Given the description of an element on the screen output the (x, y) to click on. 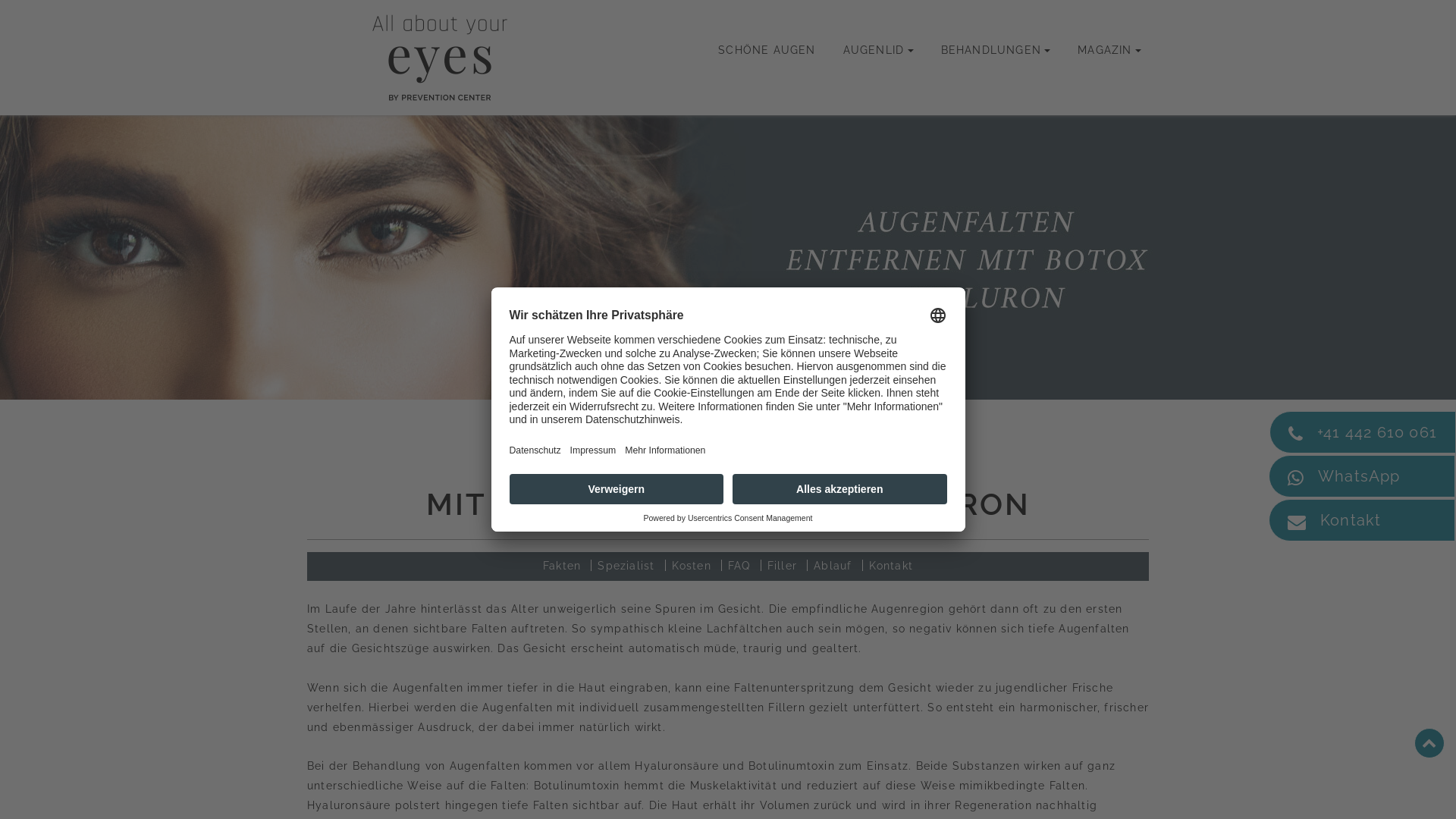
AUGENLID Element type: text (878, 49)
FAQ Element type: text (739, 564)
Filler Element type: text (782, 564)
Ablauf Element type: text (832, 564)
Spezialist Element type: text (625, 564)
BEHANDLUNGEN Element type: text (995, 49)
Fakten Element type: text (561, 564)
WhatsApp Element type: text (1361, 476)
MAGAZIN Element type: text (1109, 49)
Kosten Element type: text (691, 564)
Kontakt Element type: text (891, 564)
Kontakt Element type: text (1361, 519)
